Given the description of an element on the screen output the (x, y) to click on. 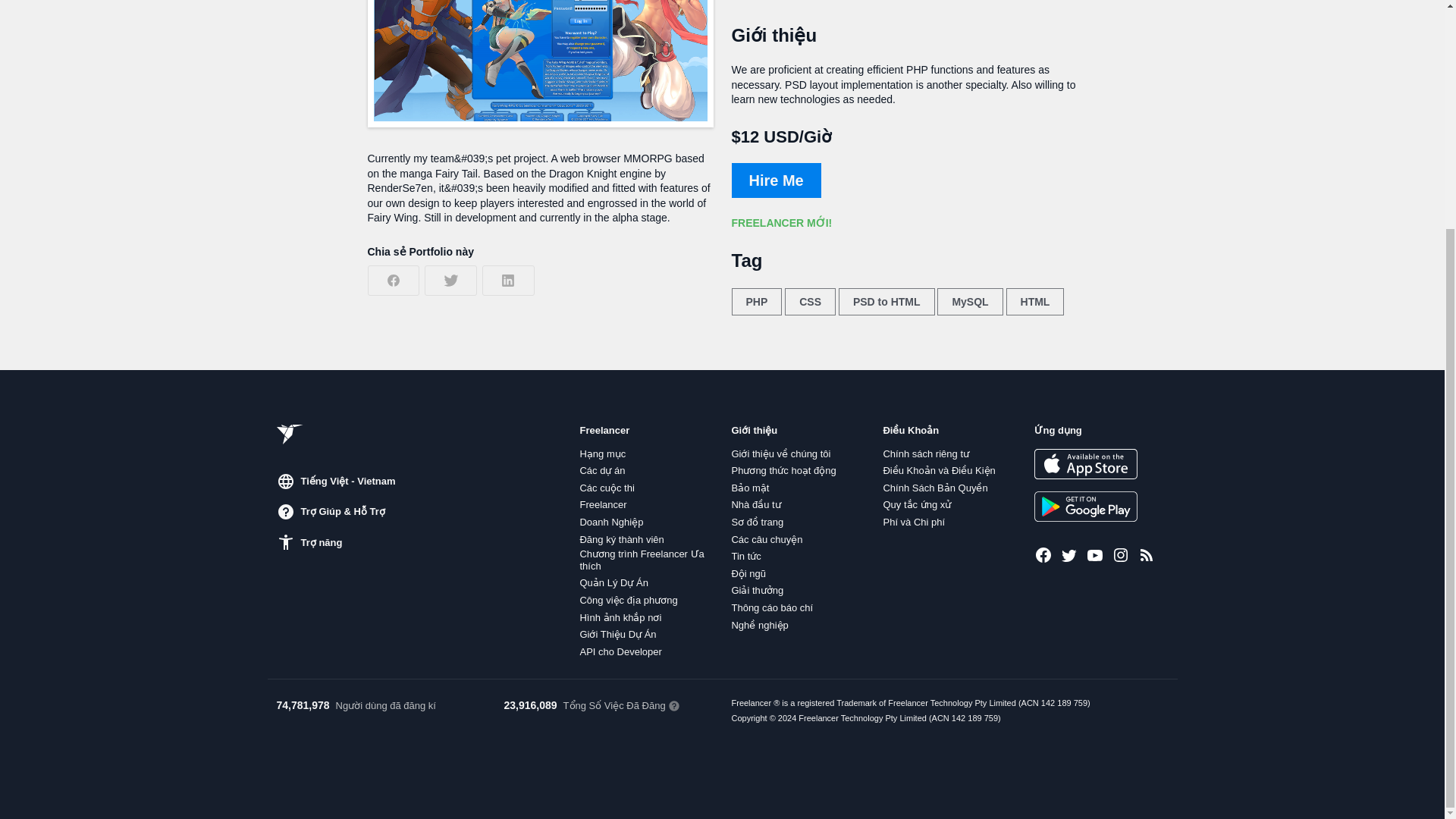
HTML (1035, 301)
CSS (809, 301)
Hire Me (775, 180)
PSD to HTML (886, 301)
PHP (755, 301)
API cho Developer (620, 652)
MySQL (970, 301)
Freelancer (602, 504)
